Given the description of an element on the screen output the (x, y) to click on. 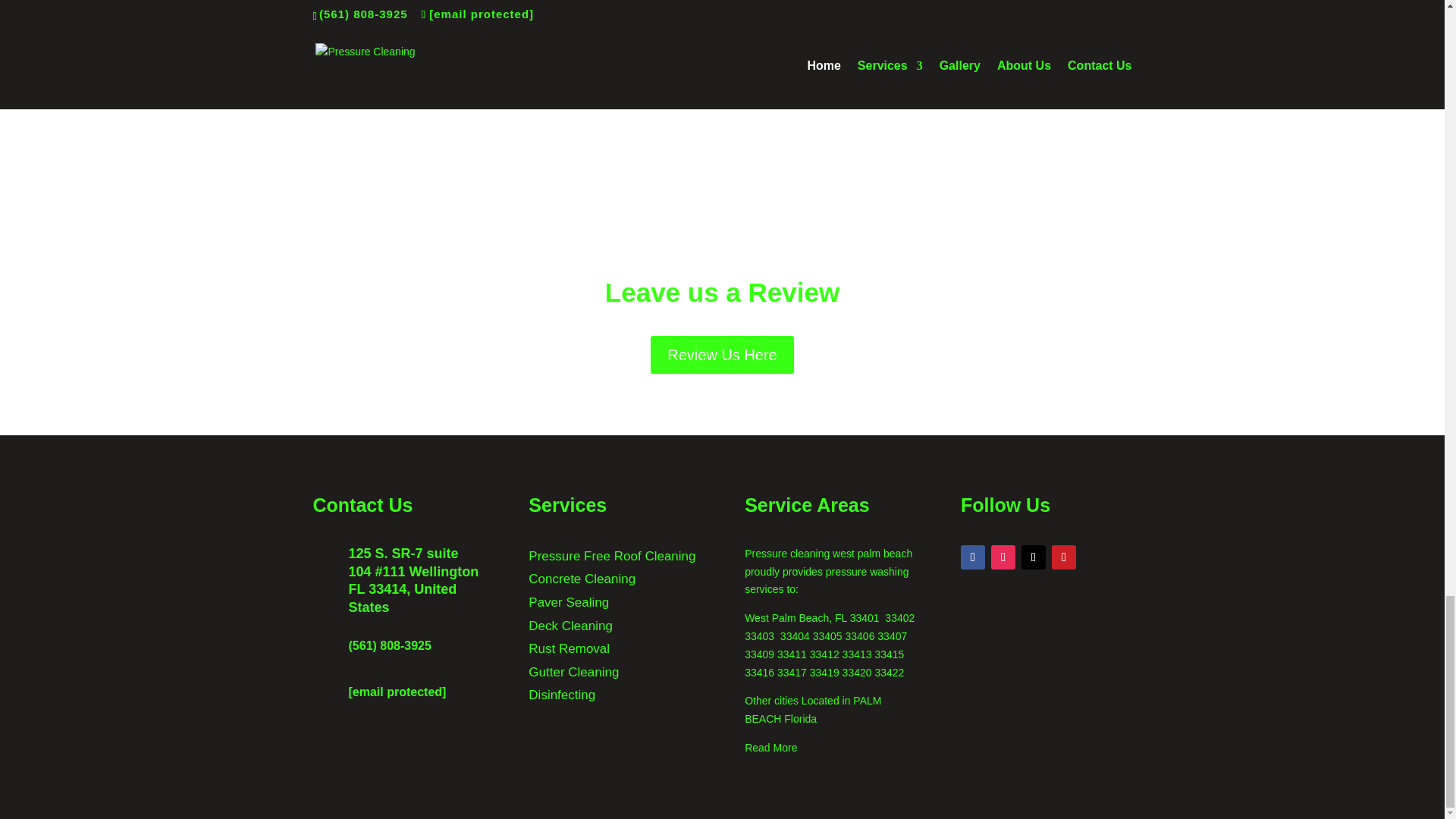
Concrete Cleaning (581, 578)
Follow on Facebook (972, 557)
Deck Cleaning (570, 626)
Paver Sealing (568, 602)
Follow on Pinterest (1063, 557)
Review Us Here (721, 354)
Gutter Cleaning (573, 672)
Follow on Instagram (1002, 557)
Rust Removal (569, 648)
Pressure Free Roof Cleaning (611, 555)
